Given the description of an element on the screen output the (x, y) to click on. 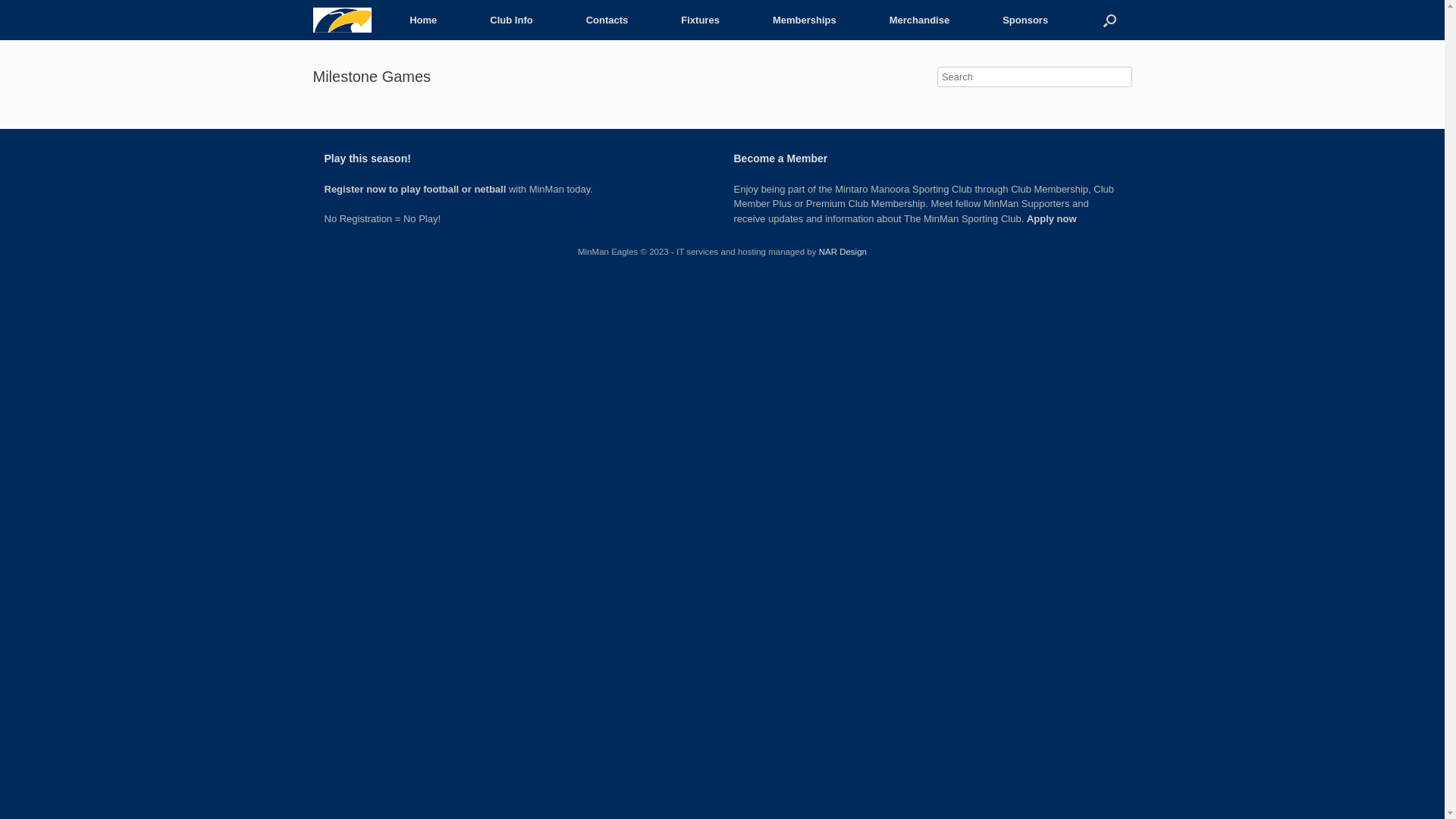
NAR Design Element type: text (842, 251)
Register now to play football or netball Element type: text (415, 188)
Sponsors Element type: text (1024, 20)
Contacts Element type: text (607, 20)
Club Info Element type: text (510, 20)
Home Element type: text (422, 20)
MinMan Eagles Element type: hover (341, 20)
Merchandise Element type: text (918, 20)
Apply now Element type: text (1051, 217)
Fixtures Element type: text (700, 20)
Memberships Element type: text (804, 20)
